Given the description of an element on the screen output the (x, y) to click on. 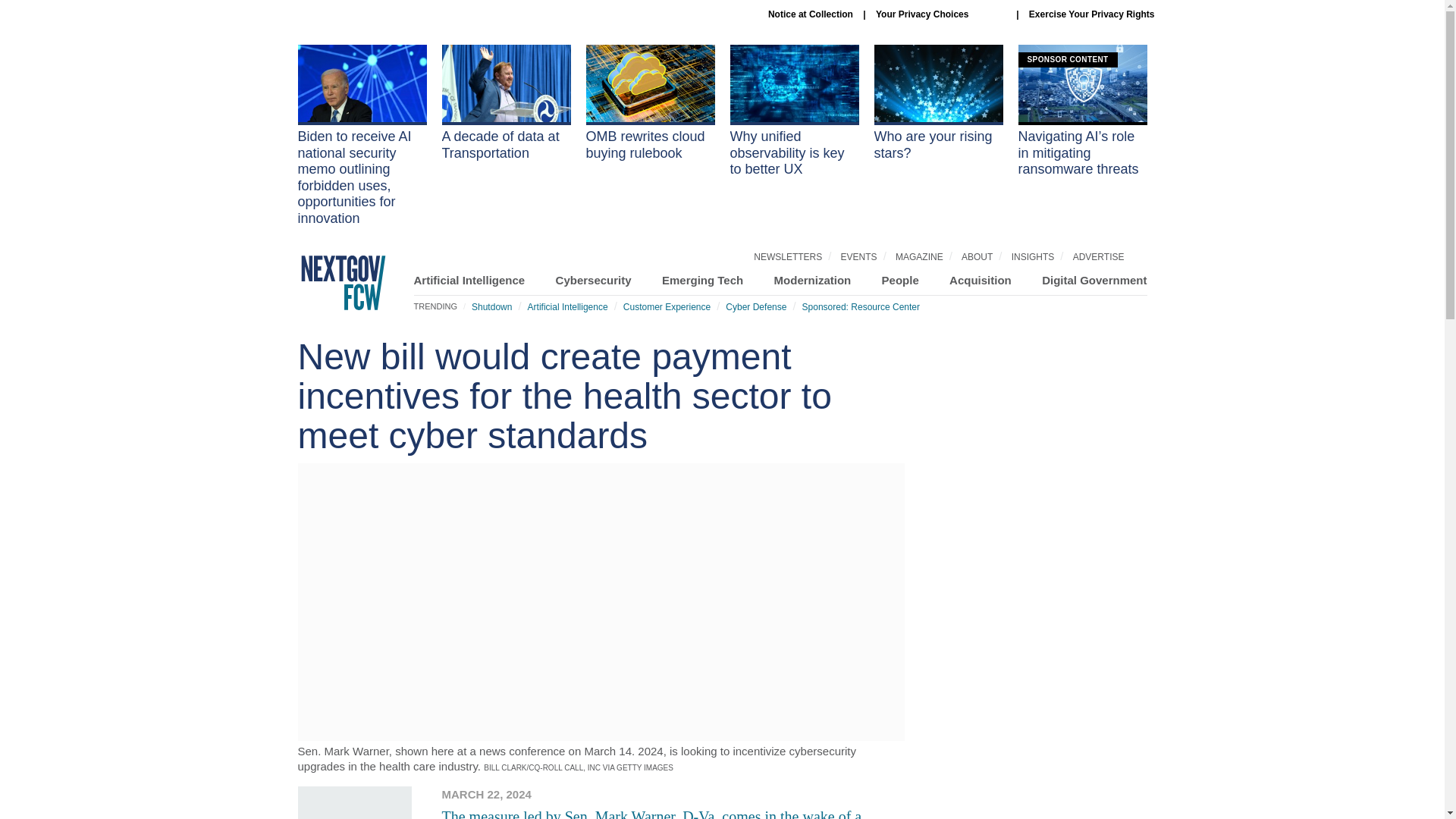
Modernization (812, 279)
MAGAZINE (919, 256)
Why unified observability is key to better UX (794, 111)
Customer Experience (666, 307)
Who are your rising stars? (938, 103)
Digital Government (1094, 279)
ABOUT (976, 256)
A decade of data at Transportation (505, 103)
Exercise Your Privacy Rights (1091, 14)
Notice at Collection (810, 14)
Shutdown (491, 307)
Artificial Intelligence (469, 279)
Acquisition (980, 279)
Artificial Intelligence (567, 307)
Emerging Tech (702, 279)
